Given the description of an element on the screen output the (x, y) to click on. 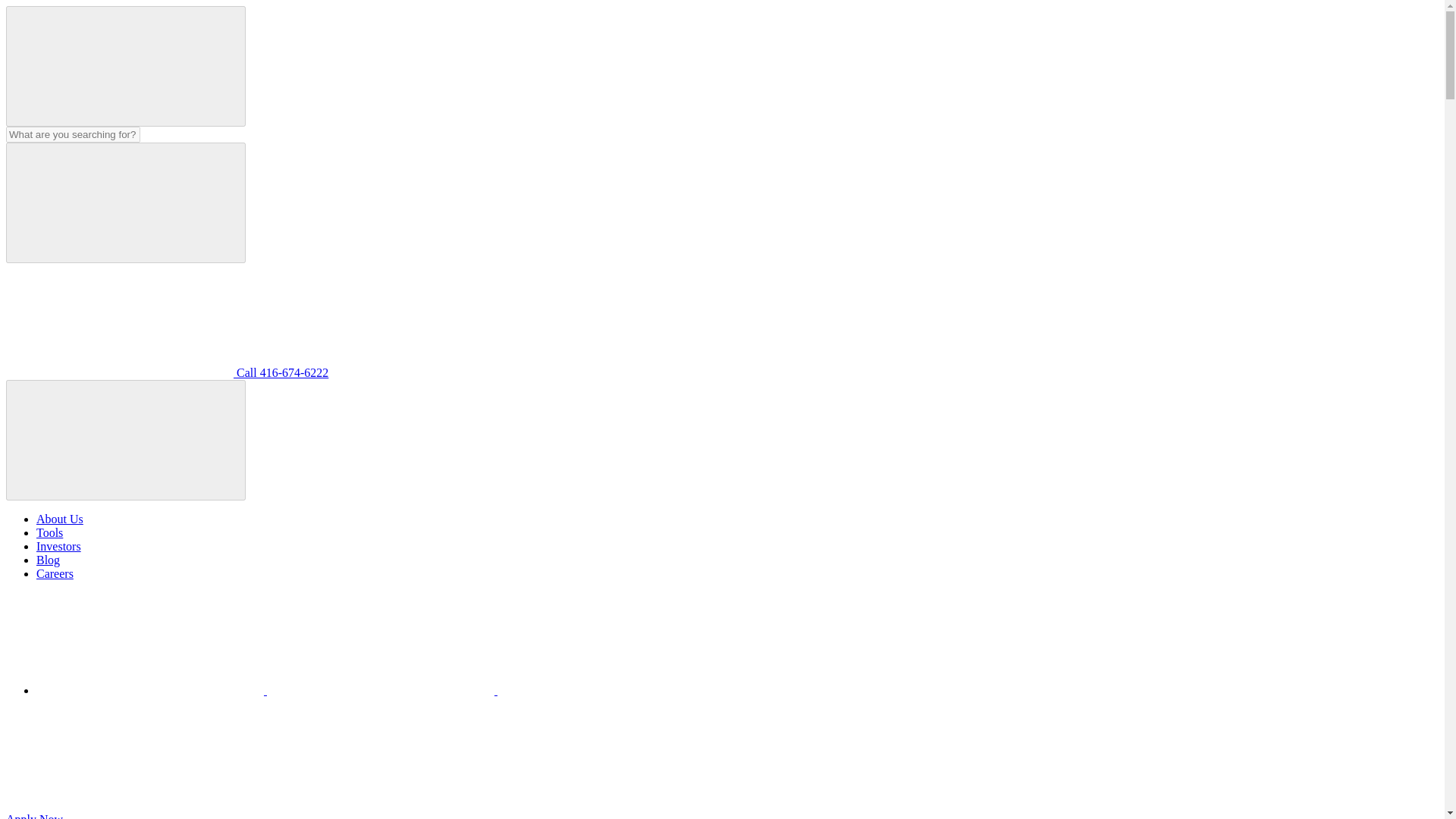
About Us (59, 518)
Careers (55, 573)
Investors (58, 545)
Blog (47, 559)
Call 416-674-6222 (167, 372)
Tools (49, 532)
Apply Now (149, 816)
